Given the description of an element on the screen output the (x, y) to click on. 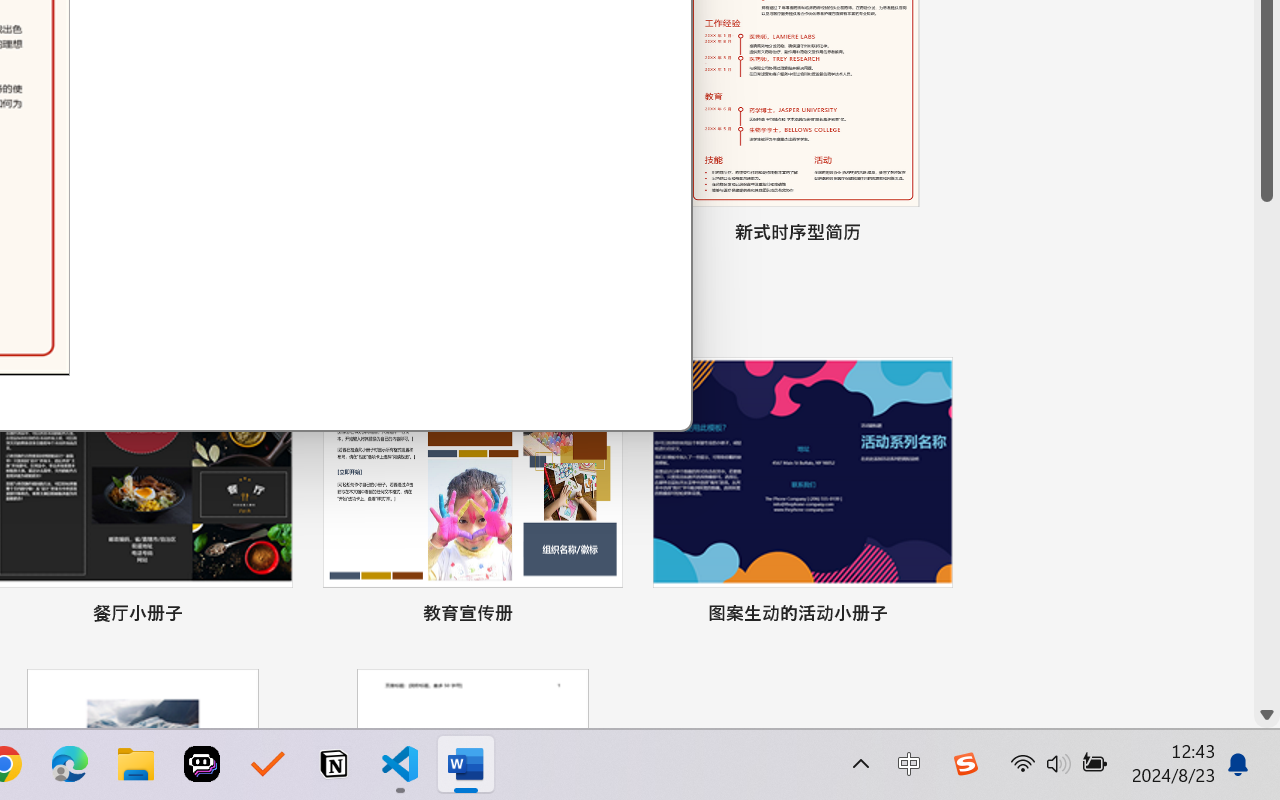
Pin to list (934, 616)
Page down (1267, 451)
Line down (1267, 715)
